Given the description of an element on the screen output the (x, y) to click on. 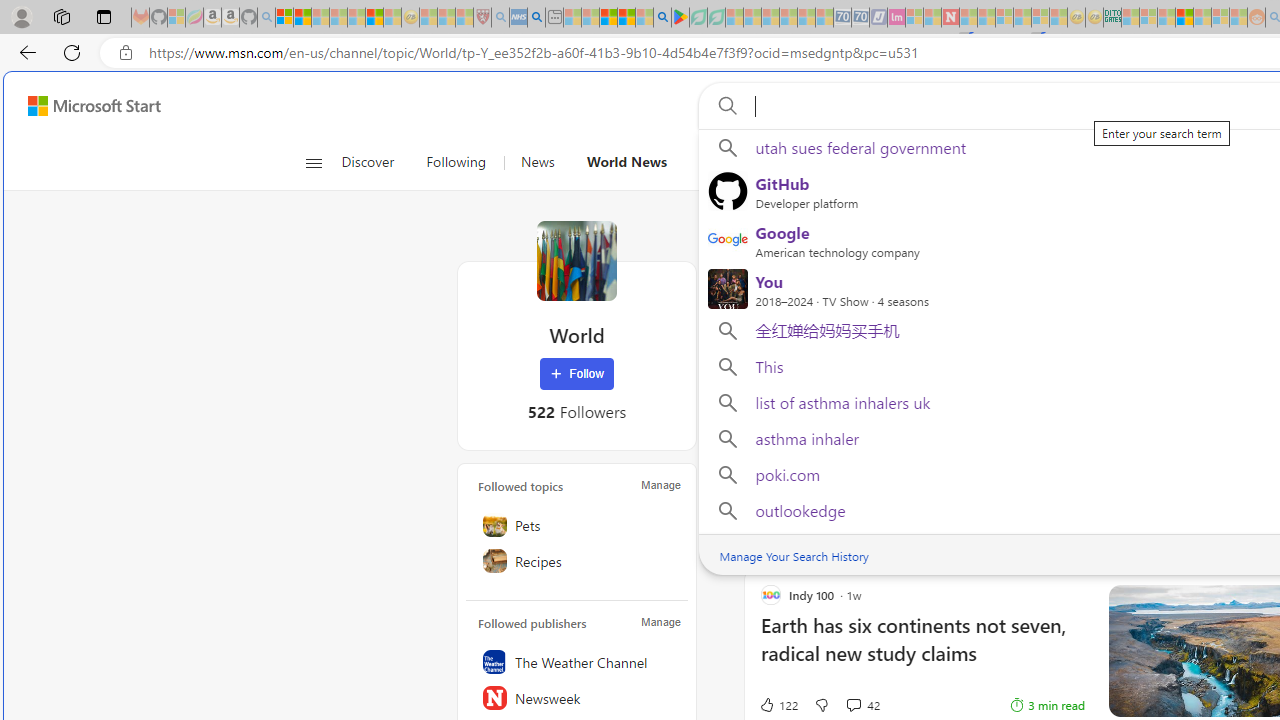
Expert Portfolios (1184, 17)
